Given the description of an element on the screen output the (x, y) to click on. 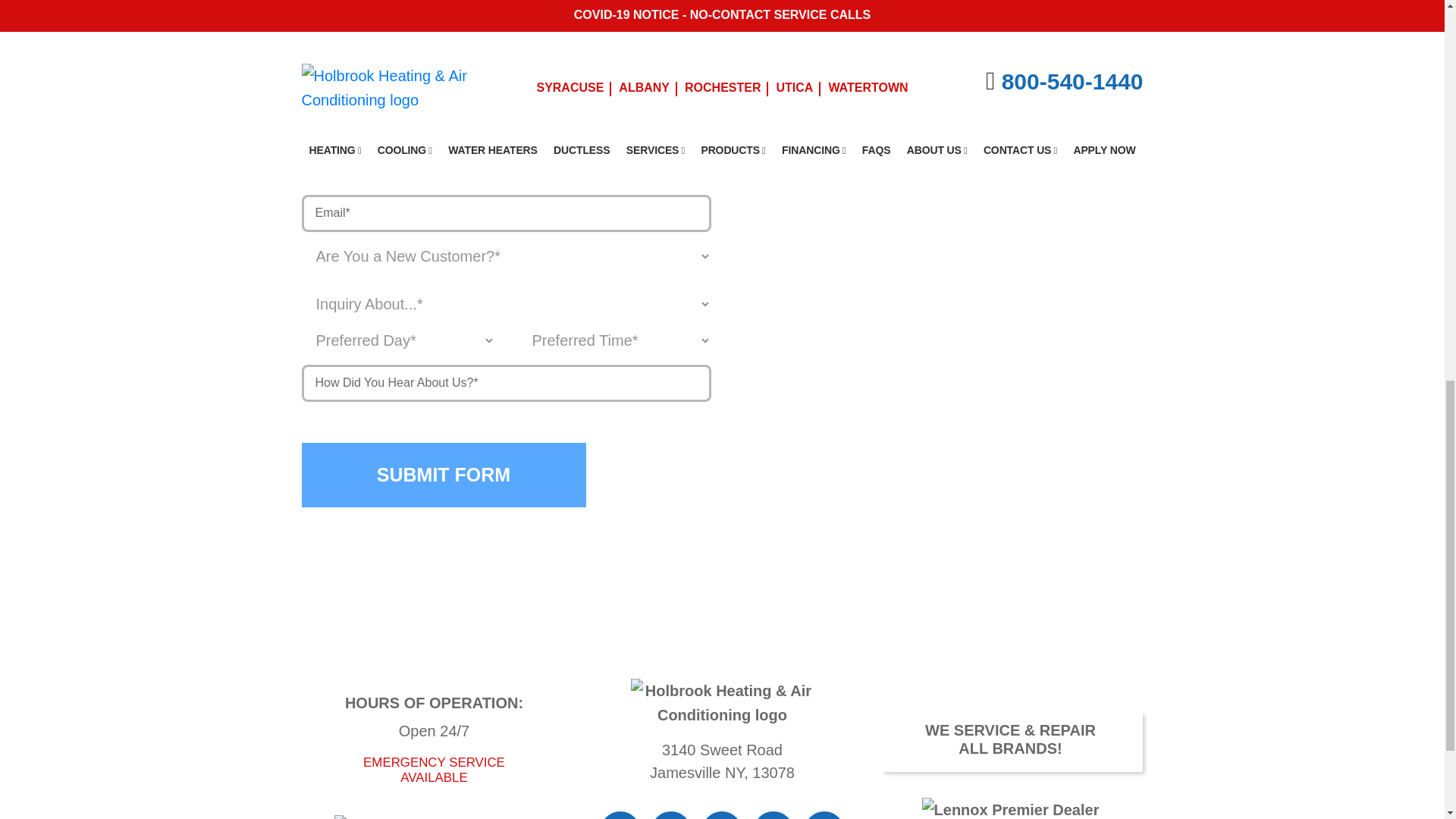
Submit Form (443, 474)
